Given the description of an element on the screen output the (x, y) to click on. 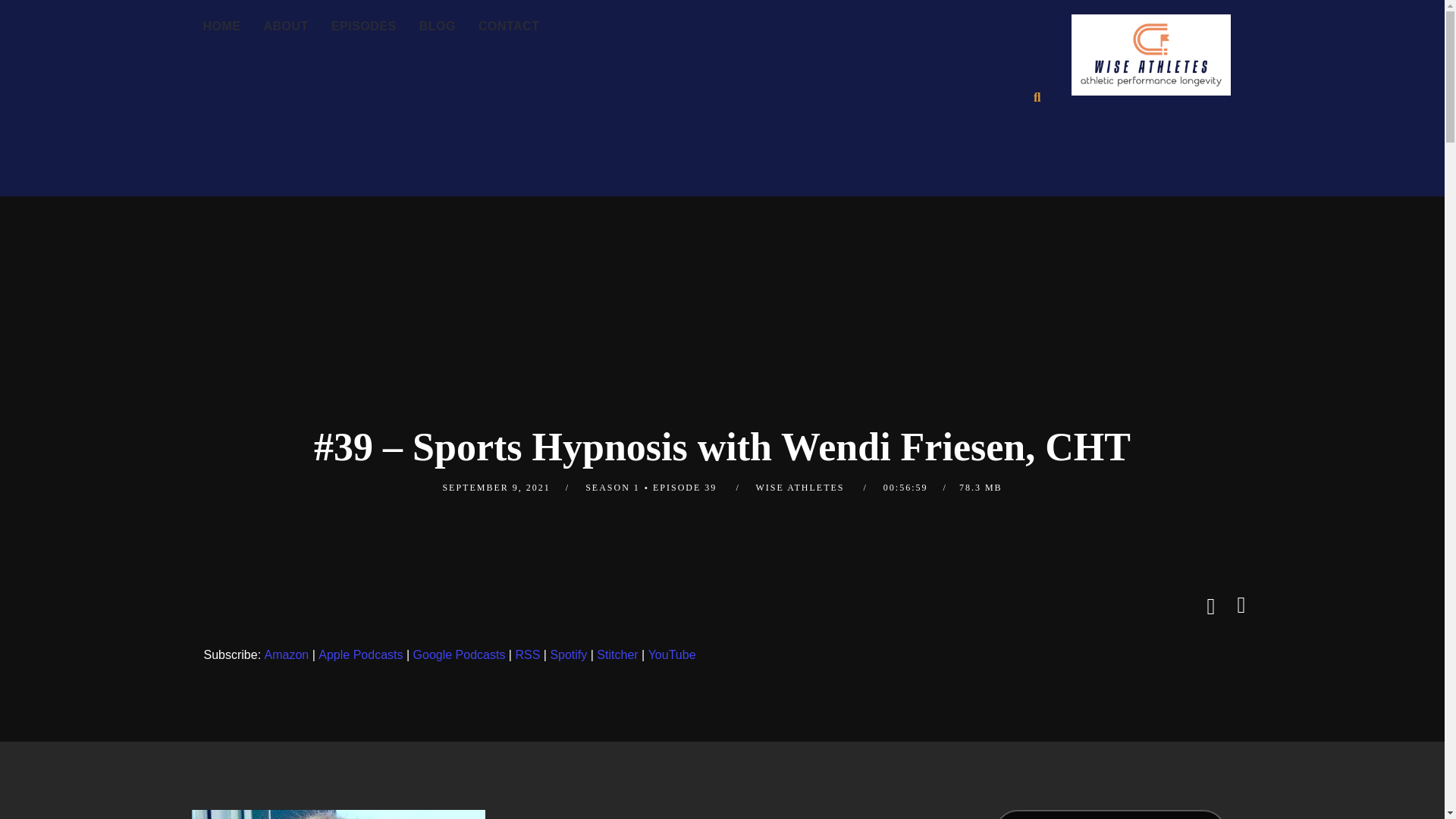
Amazon (286, 655)
HOME (220, 26)
RSS (527, 655)
Google Podcasts (459, 655)
Apple Podcasts (360, 655)
EPISODES (363, 26)
wise athletes podcast (1150, 59)
Stitcher (616, 655)
Spotify (568, 655)
Google Podcasts (459, 655)
